Given the description of an element on the screen output the (x, y) to click on. 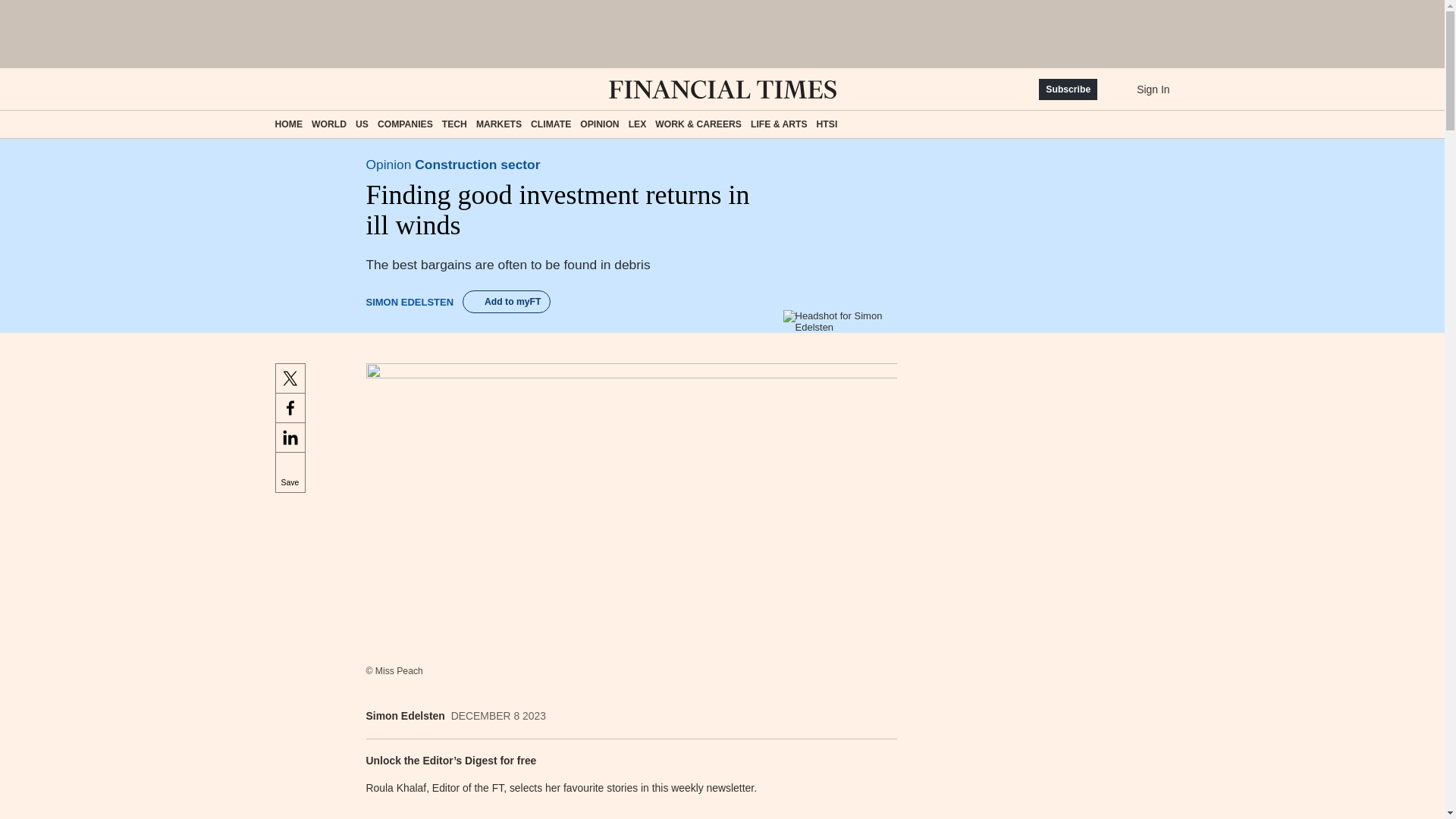
Add Simon Edelsten to myFT (506, 301)
HOME (288, 124)
Open search bar (327, 89)
OPEN SEARCH BAR (327, 89)
Subscribe (1068, 88)
Financial Times (721, 89)
OPEN SIDE NAVIGATION MENU (281, 89)
Go to Financial Times homepage (721, 89)
Open side navigation menu (281, 89)
Print this page (879, 715)
